Given the description of an element on the screen output the (x, y) to click on. 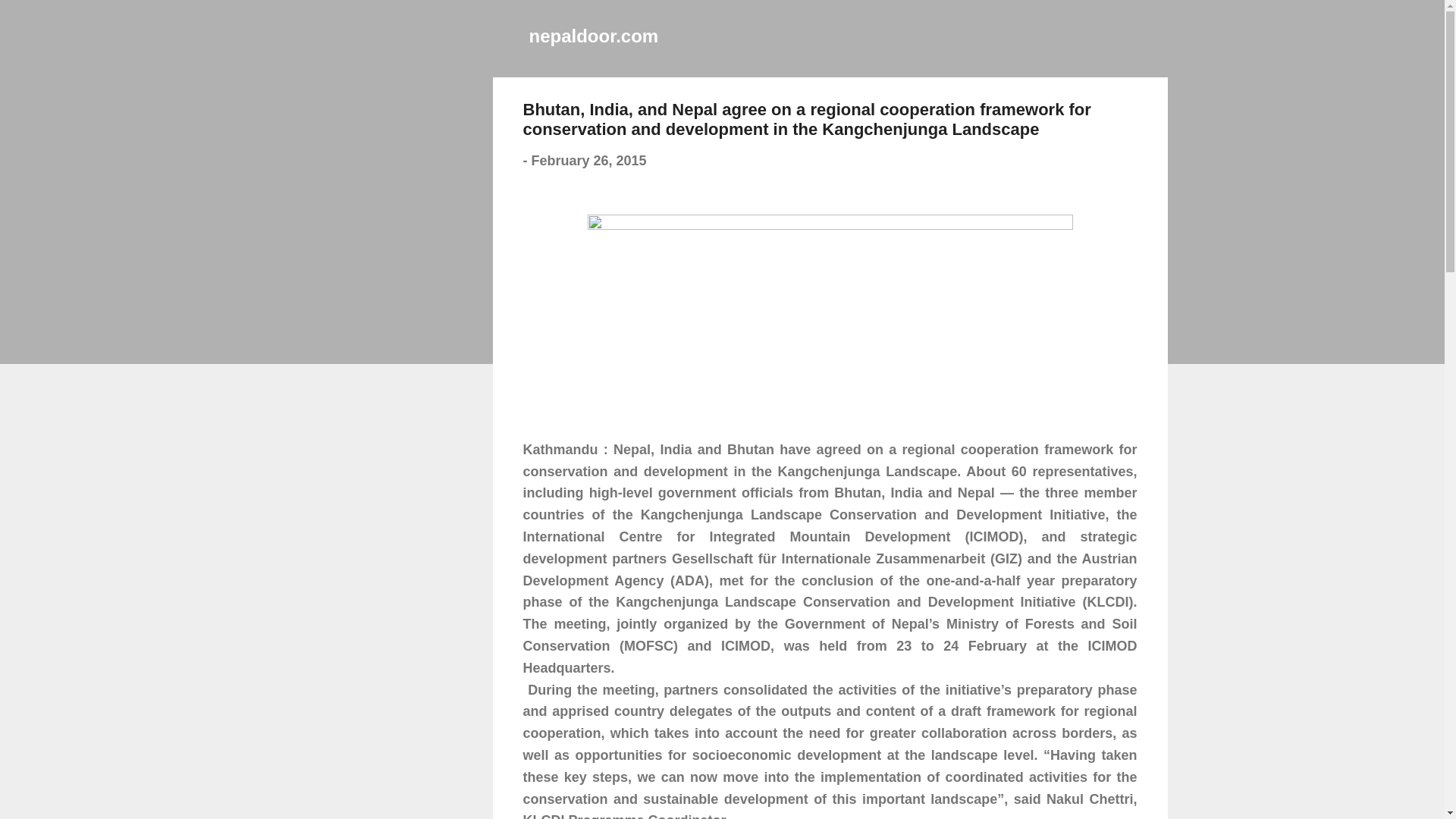
Search (34, 18)
nepaldoor.com (594, 35)
February 26, 2015 (588, 160)
permanent link (588, 160)
